Given the description of an element on the screen output the (x, y) to click on. 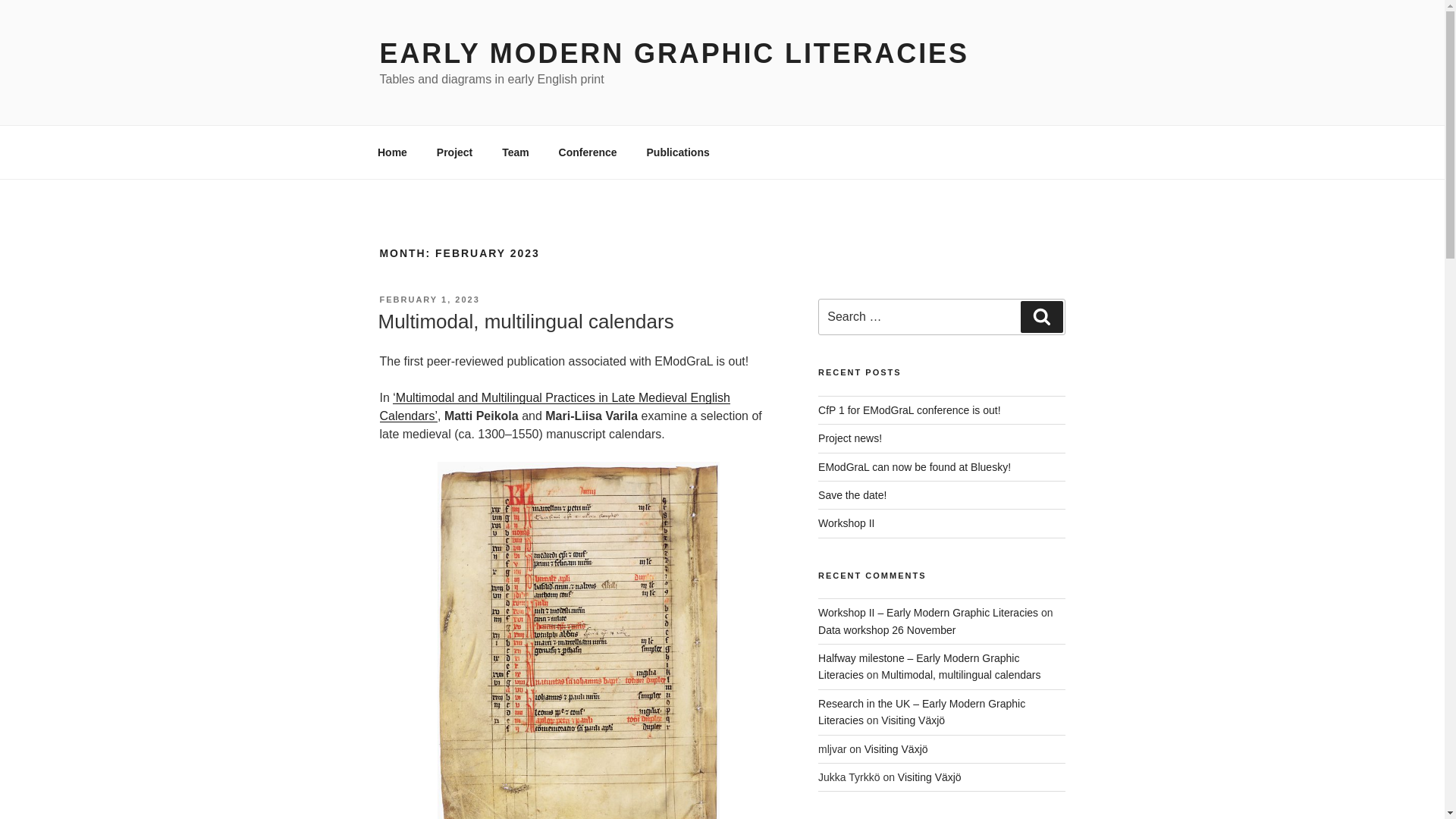
Project news! (850, 438)
Data workshop 26 November (886, 630)
FEBRUARY 1, 2023 (428, 298)
Home (392, 151)
Project (453, 151)
Save the date! (852, 494)
EModGraL can now be found at Bluesky! (914, 467)
Search (1041, 316)
Publications (677, 151)
Multimodal, multilingual calendars (524, 321)
Conference (587, 151)
Multimodal, multilingual calendars (960, 674)
Team (516, 151)
CfP 1 for EModGraL conference is out! (909, 410)
EARLY MODERN GRAPHIC LITERACIES (673, 52)
